Given the description of an element on the screen output the (x, y) to click on. 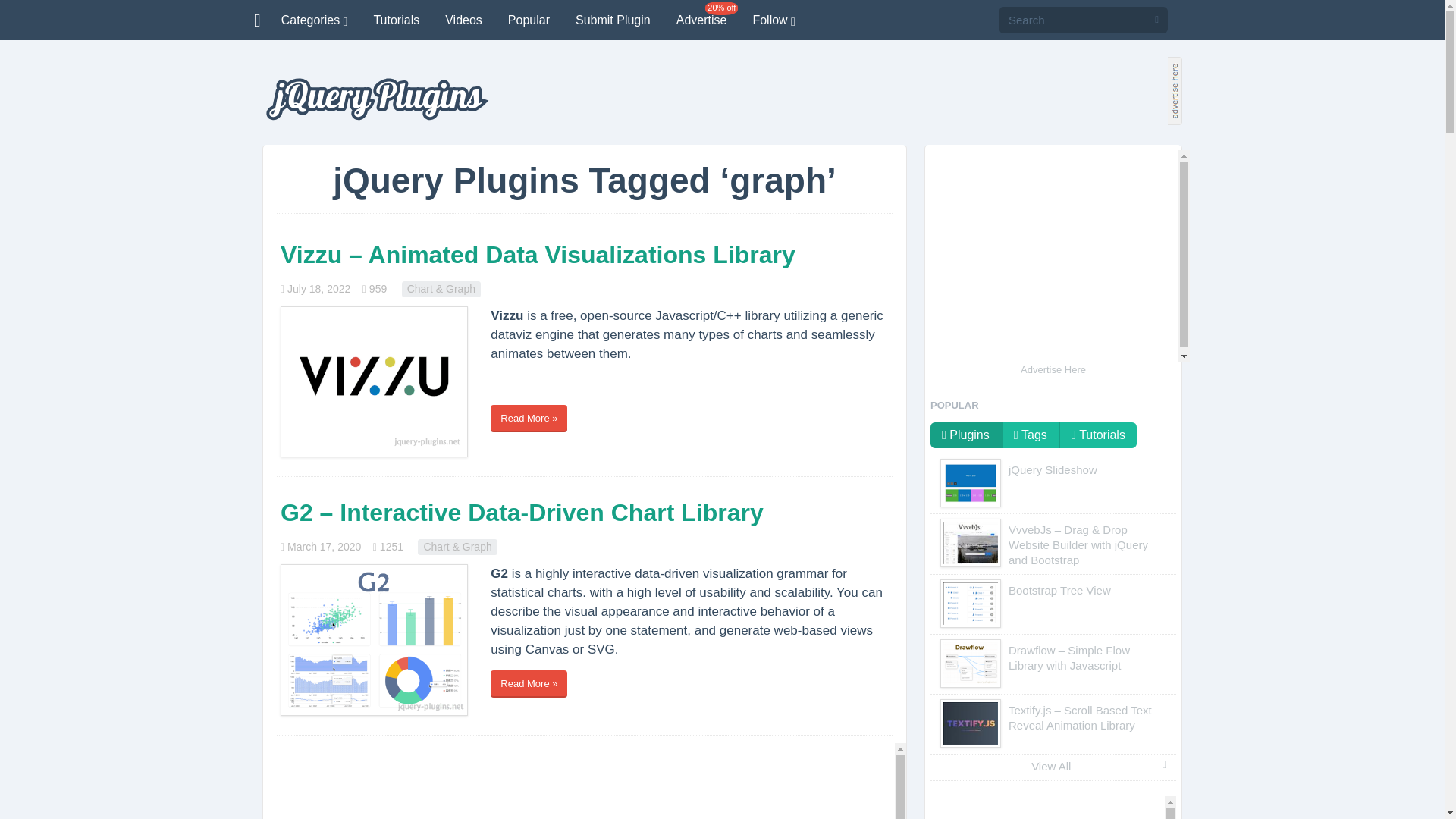
Tutorials (395, 20)
Advertisement (1053, 255)
Advertisement (584, 780)
Submit Plugin (612, 20)
Categories (314, 20)
Videos (463, 20)
Popular (528, 20)
